Given the description of an element on the screen output the (x, y) to click on. 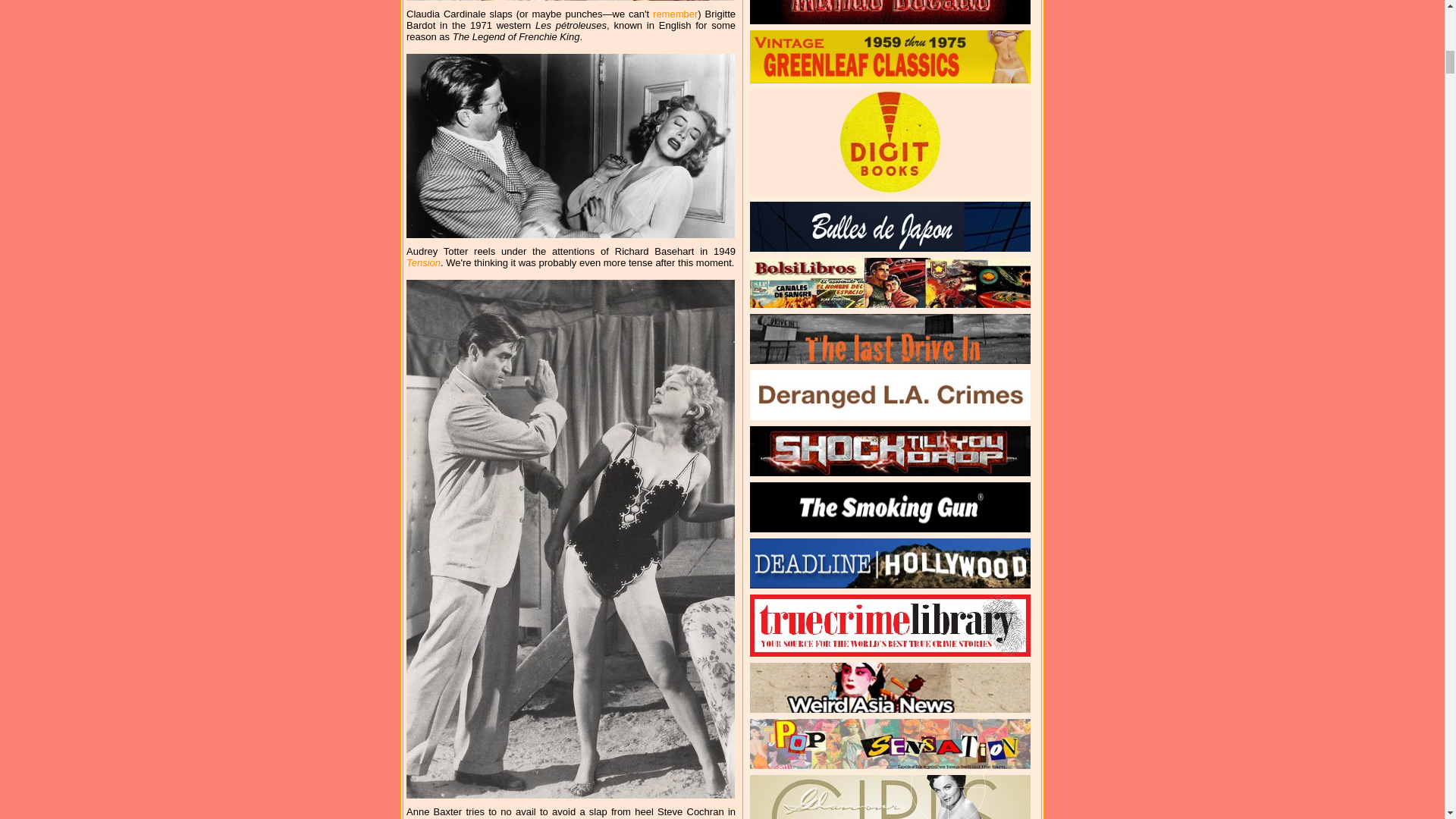
remember (674, 13)
Tension (423, 262)
Carnival Story (469, 818)
